Given the description of an element on the screen output the (x, y) to click on. 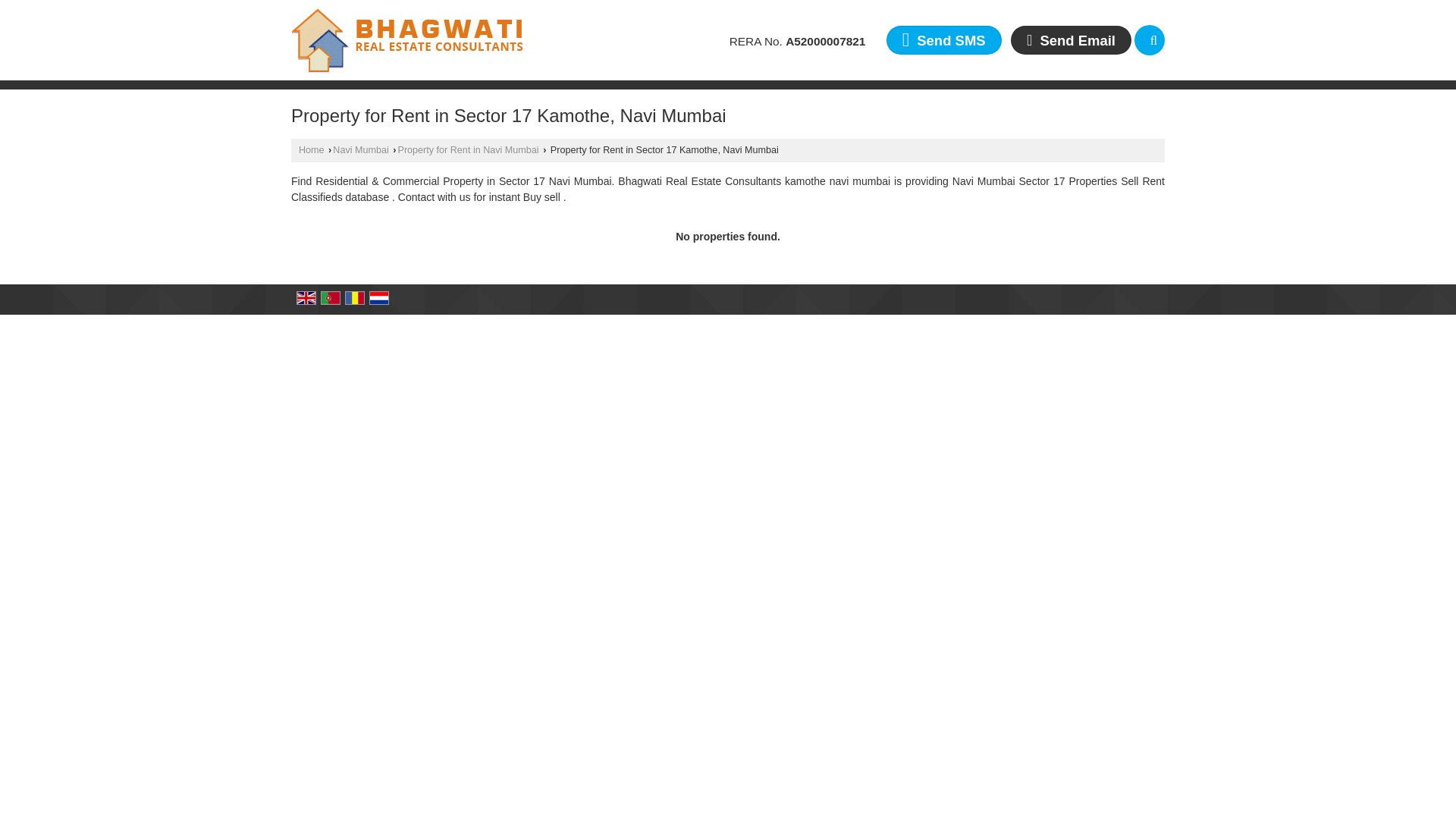
Property in Navi Mumbai (360, 149)
Romanian (355, 297)
Dutch (378, 297)
Navi Mumbai (360, 149)
Send Email (1070, 39)
Bhagwati Real Estate Consultants  kamothe navi mumbai (407, 39)
Property for Rent in Navi Mumbai (467, 149)
Home (311, 149)
English (306, 297)
Home (311, 149)
